Given the description of an element on the screen output the (x, y) to click on. 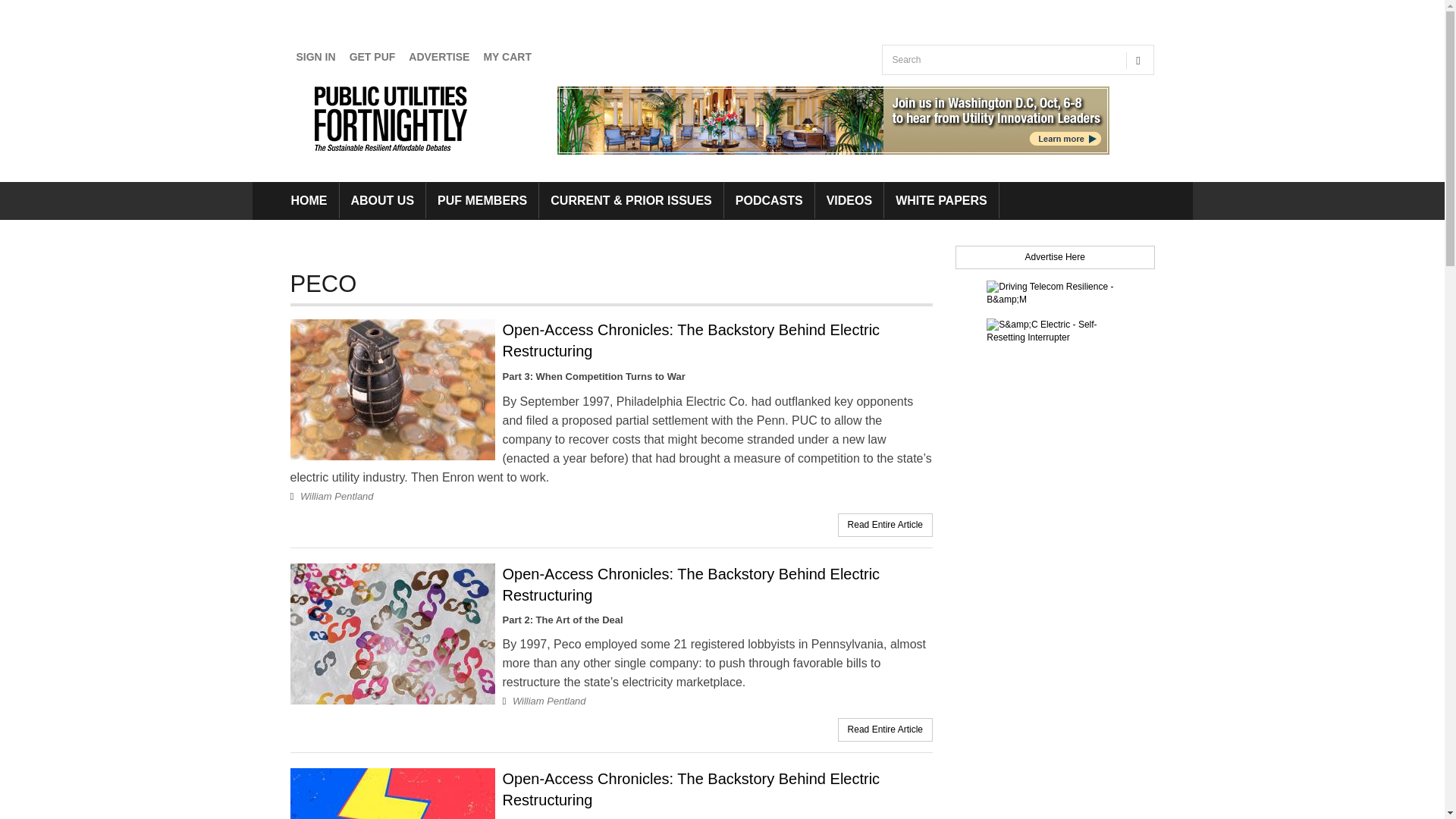
Home (393, 118)
MY CART (507, 57)
ABOUT US (382, 200)
Search (898, 90)
PUF MEMBERS (482, 200)
VIDEOS (849, 200)
SIGN IN (314, 57)
